Given the description of an element on the screen output the (x, y) to click on. 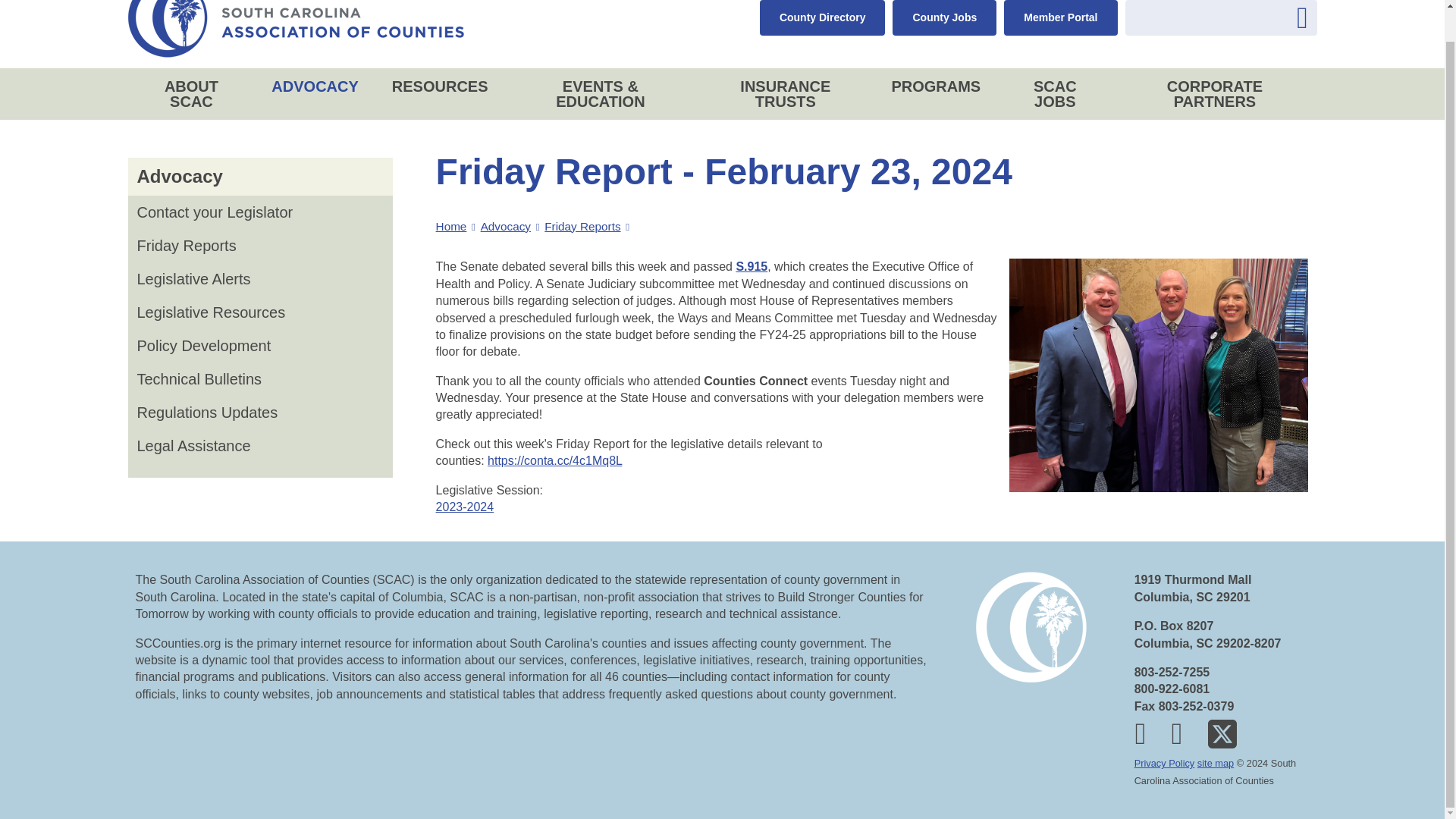
RESOURCES (1331, 145)
ADVOCACY (1331, 101)
Friday Report - Feb. 23, 2024 (554, 460)
COUNTY DIRECTORY (1272, 14)
Enter the terms you wish to search for. (1221, 18)
MEMBER PORTAL (1345, 14)
Home (295, 28)
ABOUT SCAC (1331, 56)
COUNTY JOBS (1309, 14)
